Given the description of an element on the screen output the (x, y) to click on. 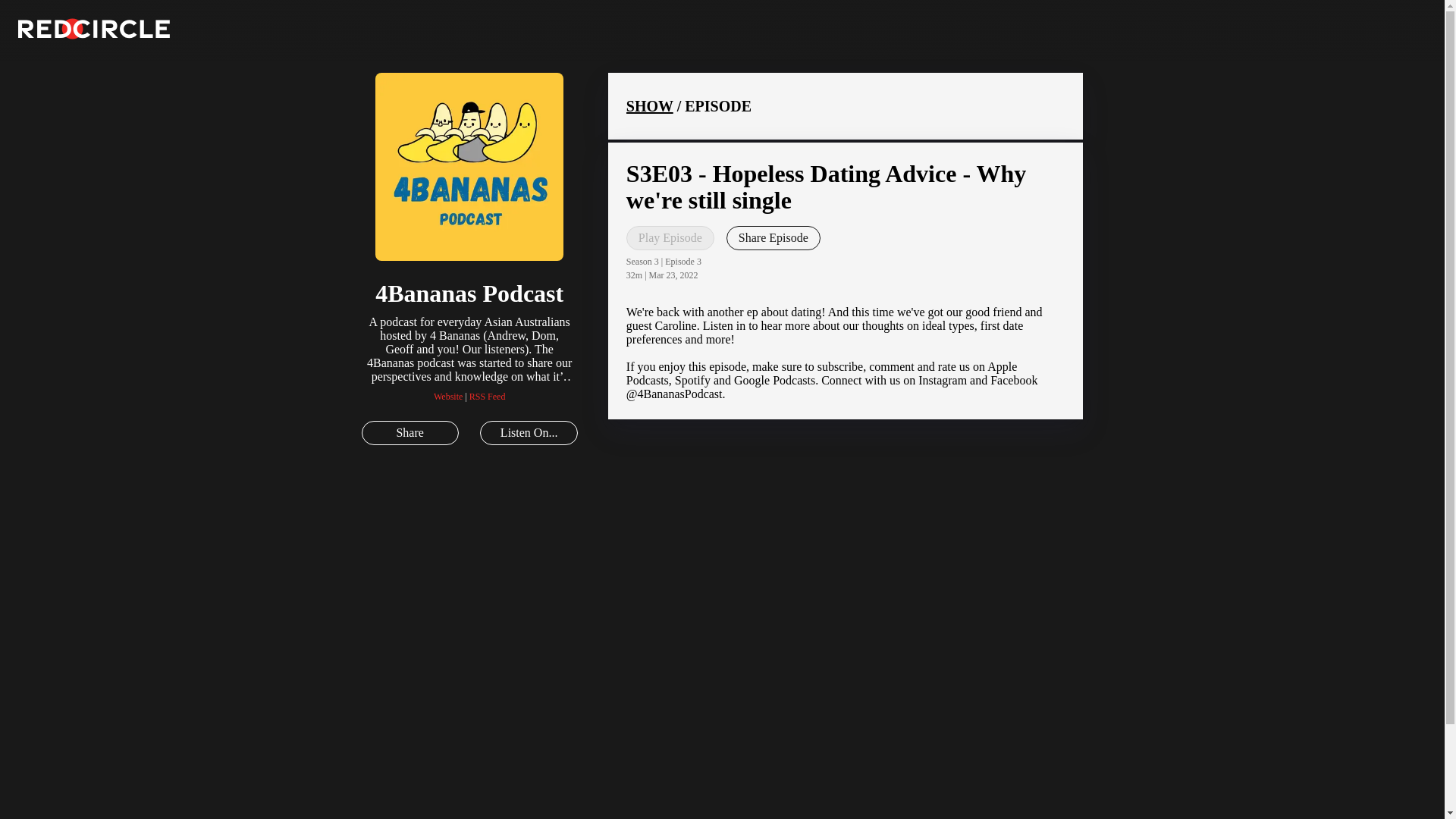
Website (448, 396)
RSS Feed (486, 396)
Listen On... (528, 432)
Share Episode (773, 238)
Share (409, 432)
SHOW (649, 105)
Play Episode (670, 238)
